Given the description of an element on the screen output the (x, y) to click on. 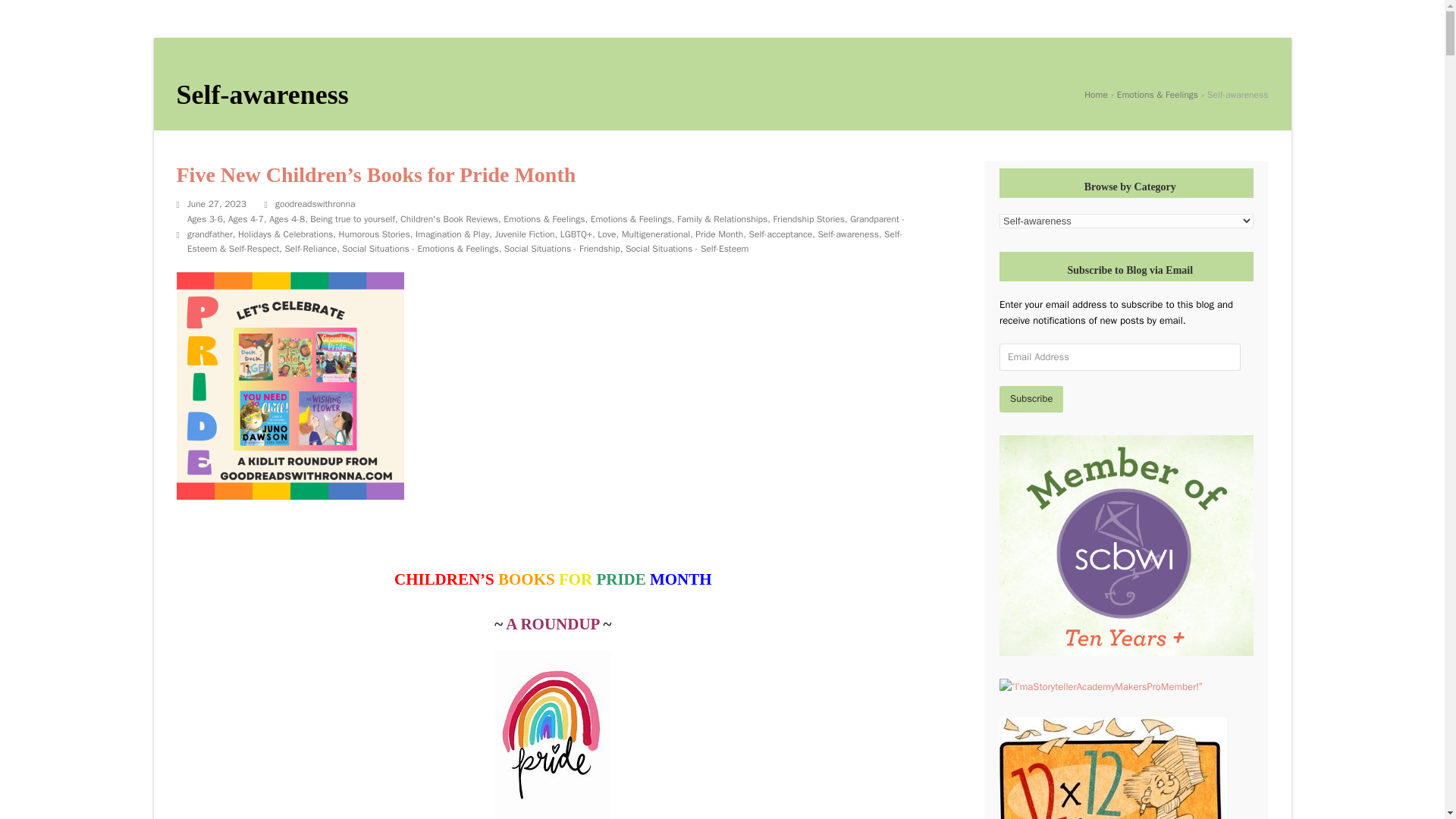
Friendship Stories (809, 218)
Ages 4-7 (245, 218)
Juvenile Fiction (524, 234)
Social Situations - Friendship (561, 248)
Self-awareness (846, 234)
Social Situations - Self-Esteem (687, 248)
Ages 4-8 (286, 218)
Self-acceptance (780, 234)
Multigenerational (655, 234)
Being true to yourself (352, 218)
Grandparent - grandfather (545, 226)
Pride Month (718, 234)
Home (1096, 94)
Love (605, 234)
Self-Reliance (309, 248)
